Given the description of an element on the screen output the (x, y) to click on. 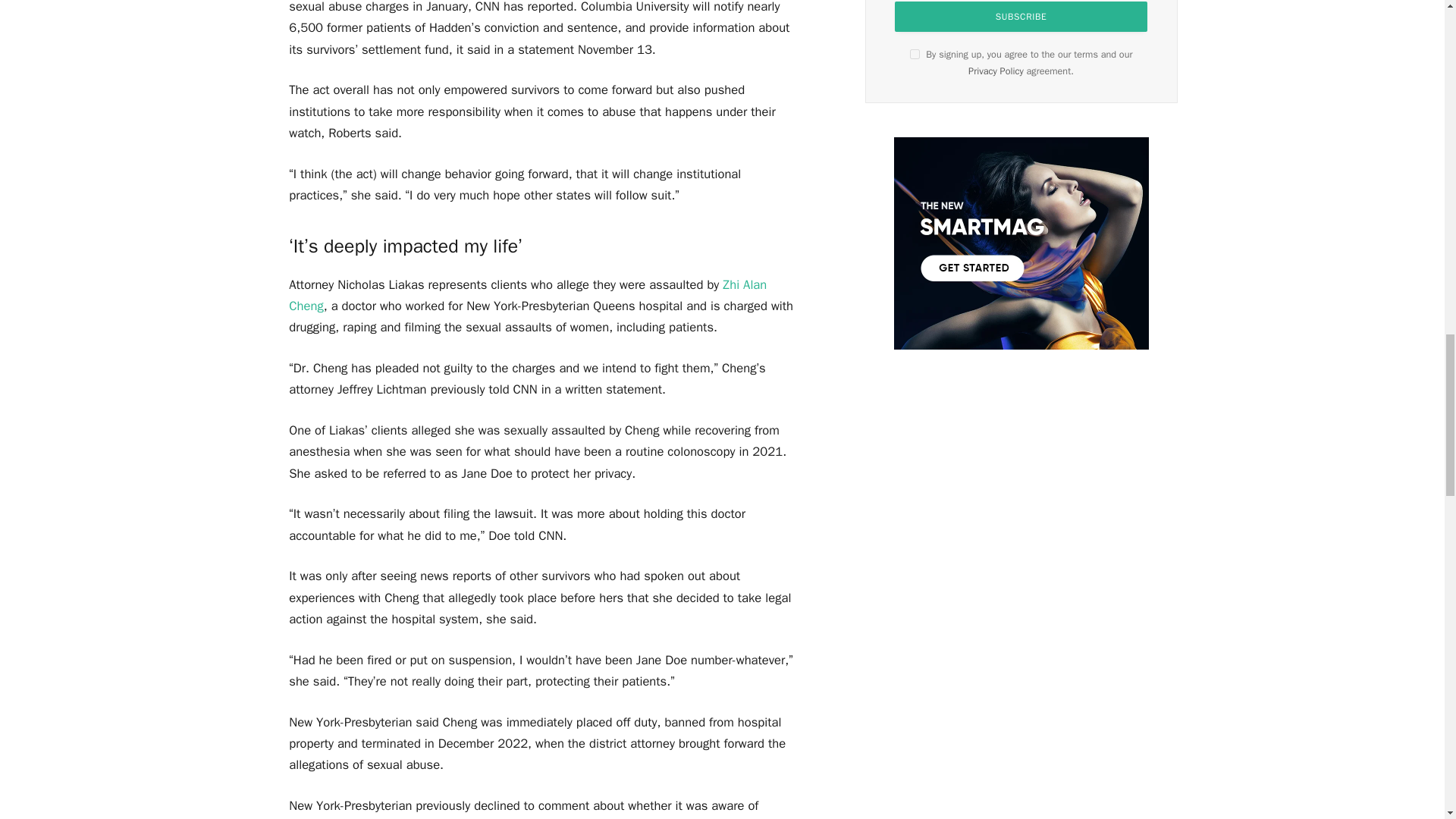
on (915, 53)
Subscribe (1021, 16)
